Given the description of an element on the screen output the (x, y) to click on. 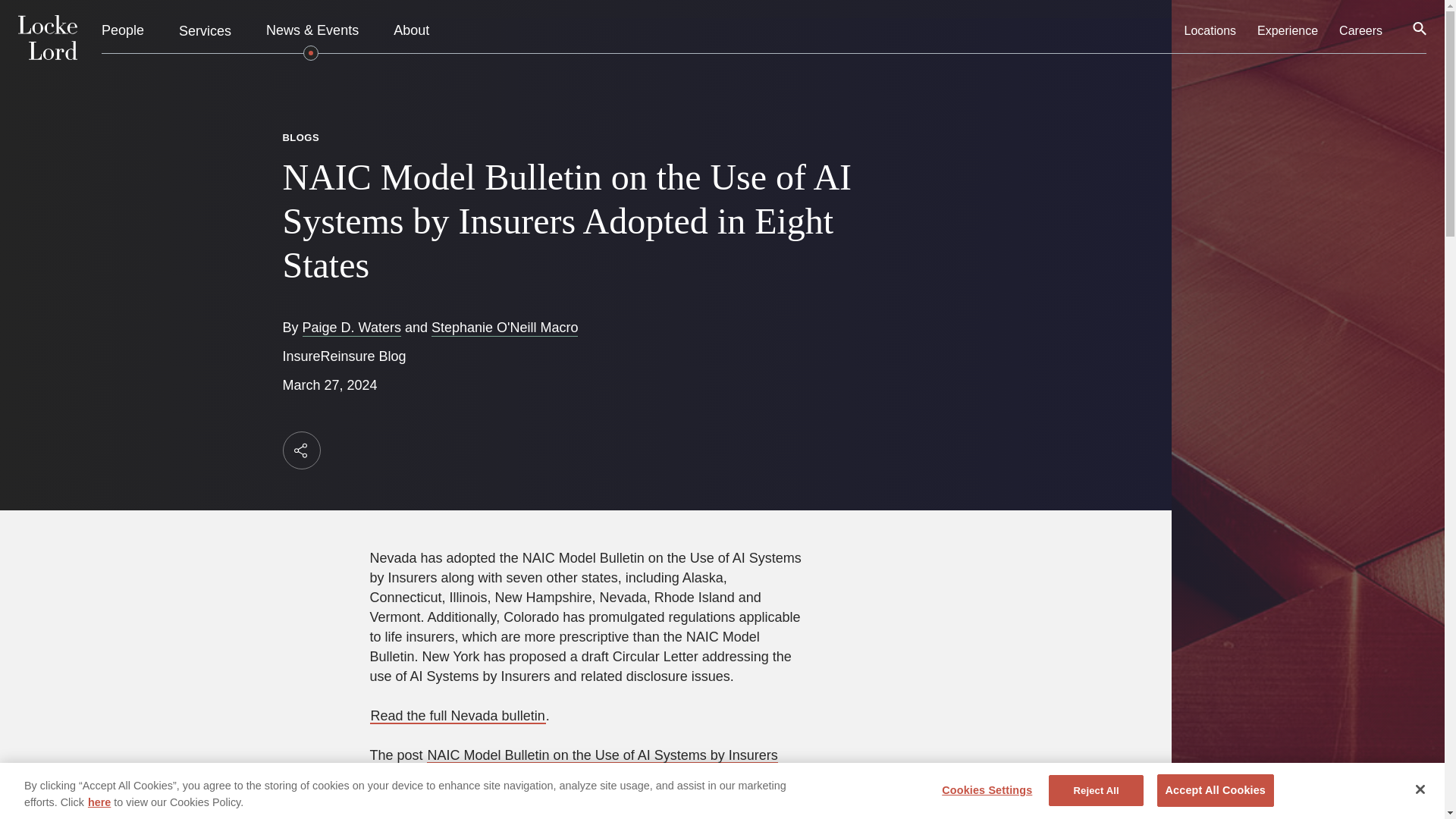
People (122, 30)
Services (205, 31)
